Given the description of an element on the screen output the (x, y) to click on. 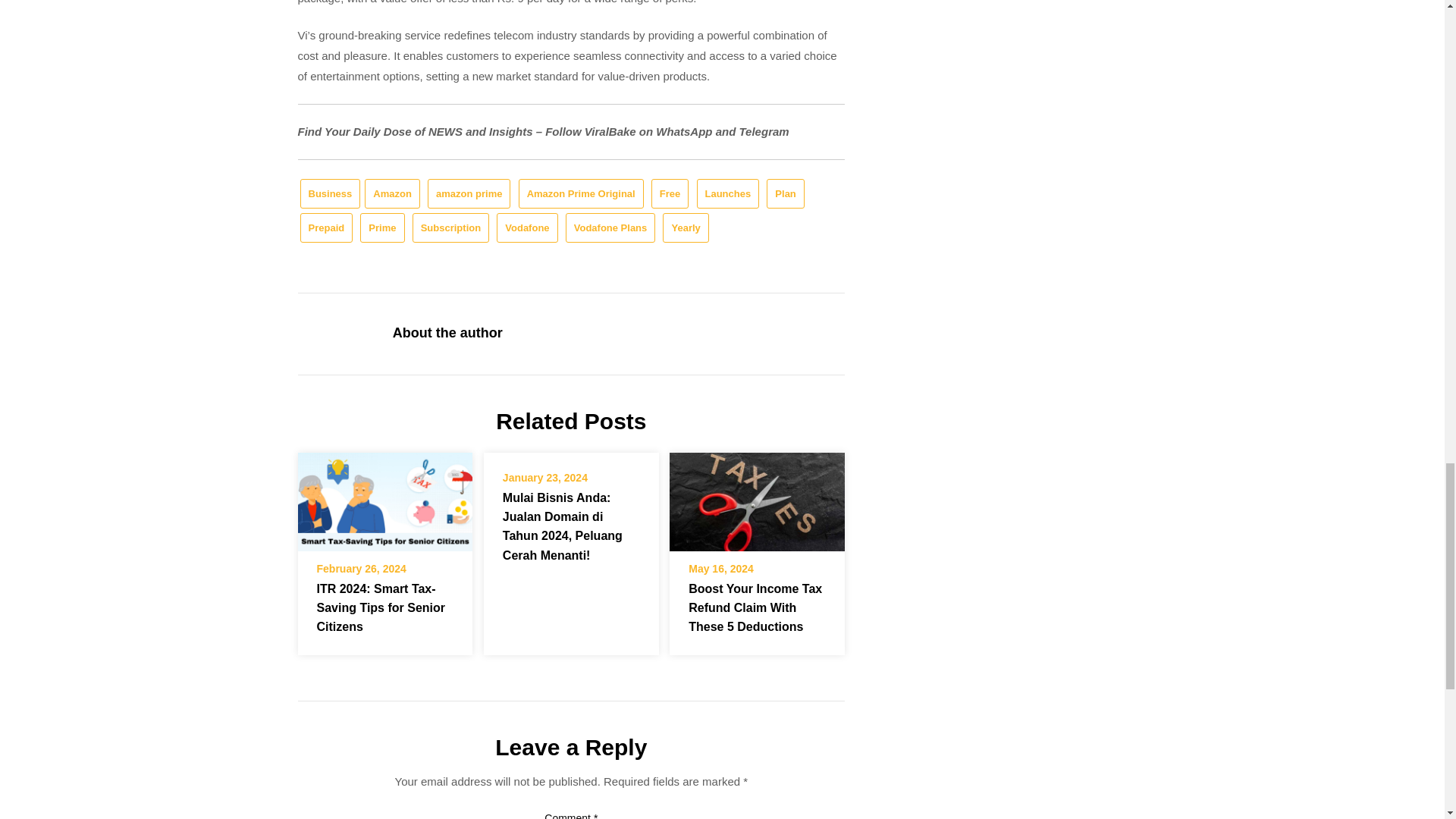
Prepaid (326, 227)
Launches (726, 193)
Free (669, 193)
Vodafone Plans (611, 227)
ITR 2024: Smart Tax-Saving Tips for Senior Citizens (384, 501)
amazon prime (469, 193)
Plan (785, 193)
Business (330, 193)
ITR 2024: Smart Tax-Saving Tips for Senior Citizens (384, 496)
Boost Your Income Tax Refund Claim With These 5 Deductions (756, 496)
Subscription (450, 227)
Vodafone (526, 227)
Yearly (684, 227)
Boost Your Income Tax Refund Claim With These 5 Deductions (756, 501)
